Given the description of an element on the screen output the (x, y) to click on. 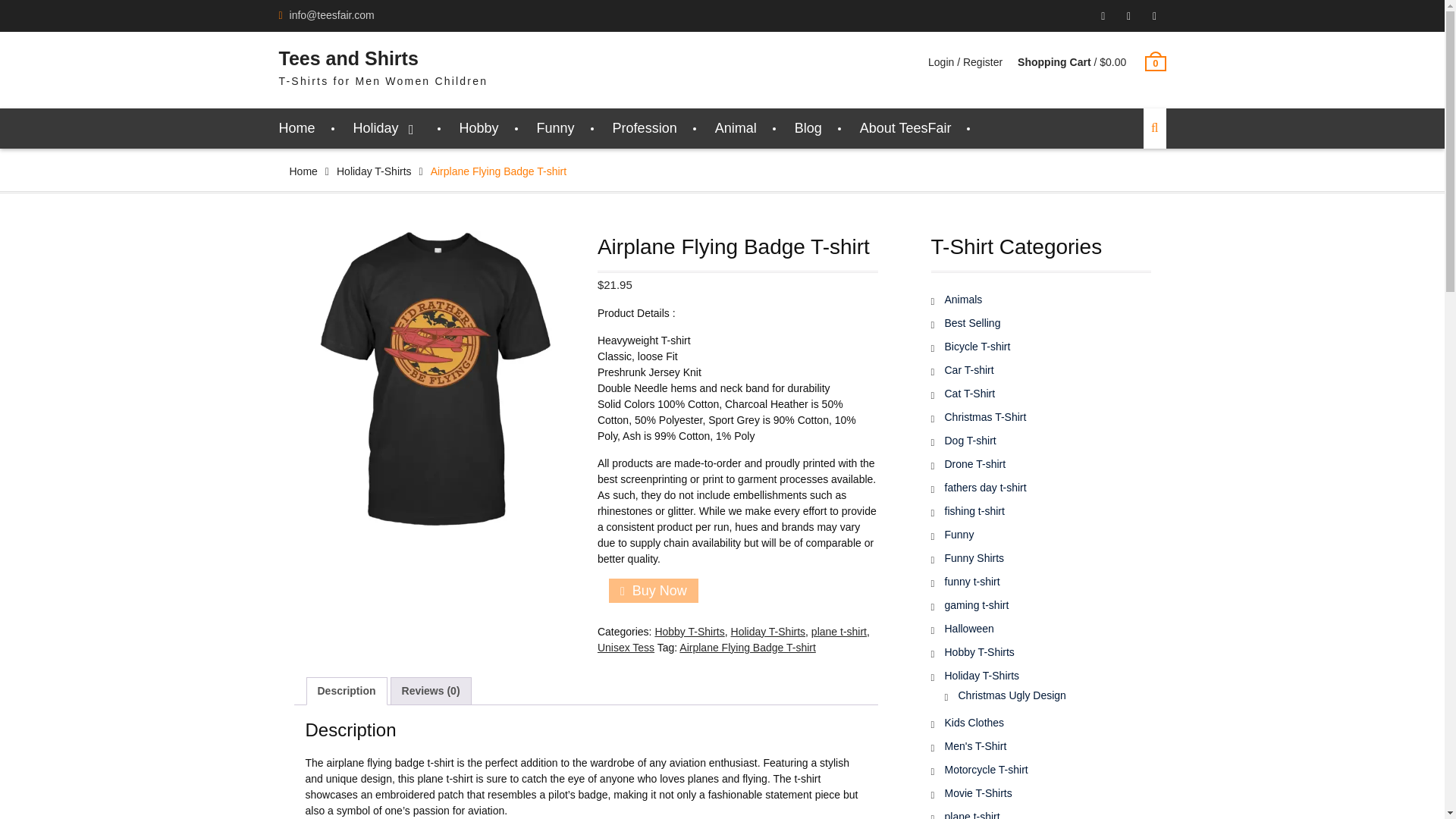
Holiday (387, 128)
Home (303, 171)
Hobby (479, 128)
Holiday T-Shirts (374, 171)
Tees and Shirts (349, 57)
Hobby T-Shirts (688, 631)
plane t-shirt (838, 631)
Twitter (1154, 15)
Funny (556, 128)
Profession (644, 128)
